Given the description of an element on the screen output the (x, y) to click on. 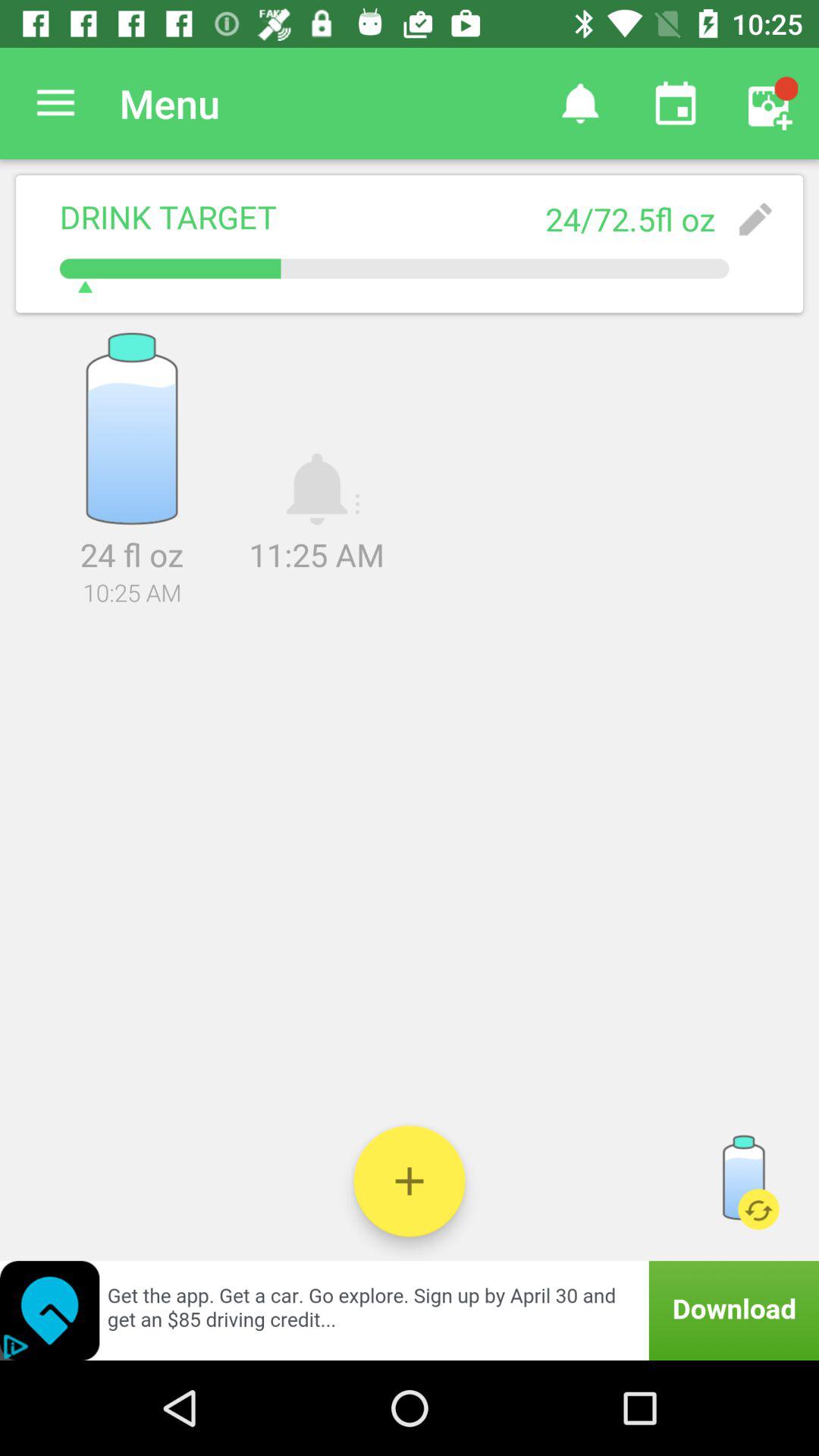
tap item above the 24 72 5fl icon (579, 103)
